Given the description of an element on the screen output the (x, y) to click on. 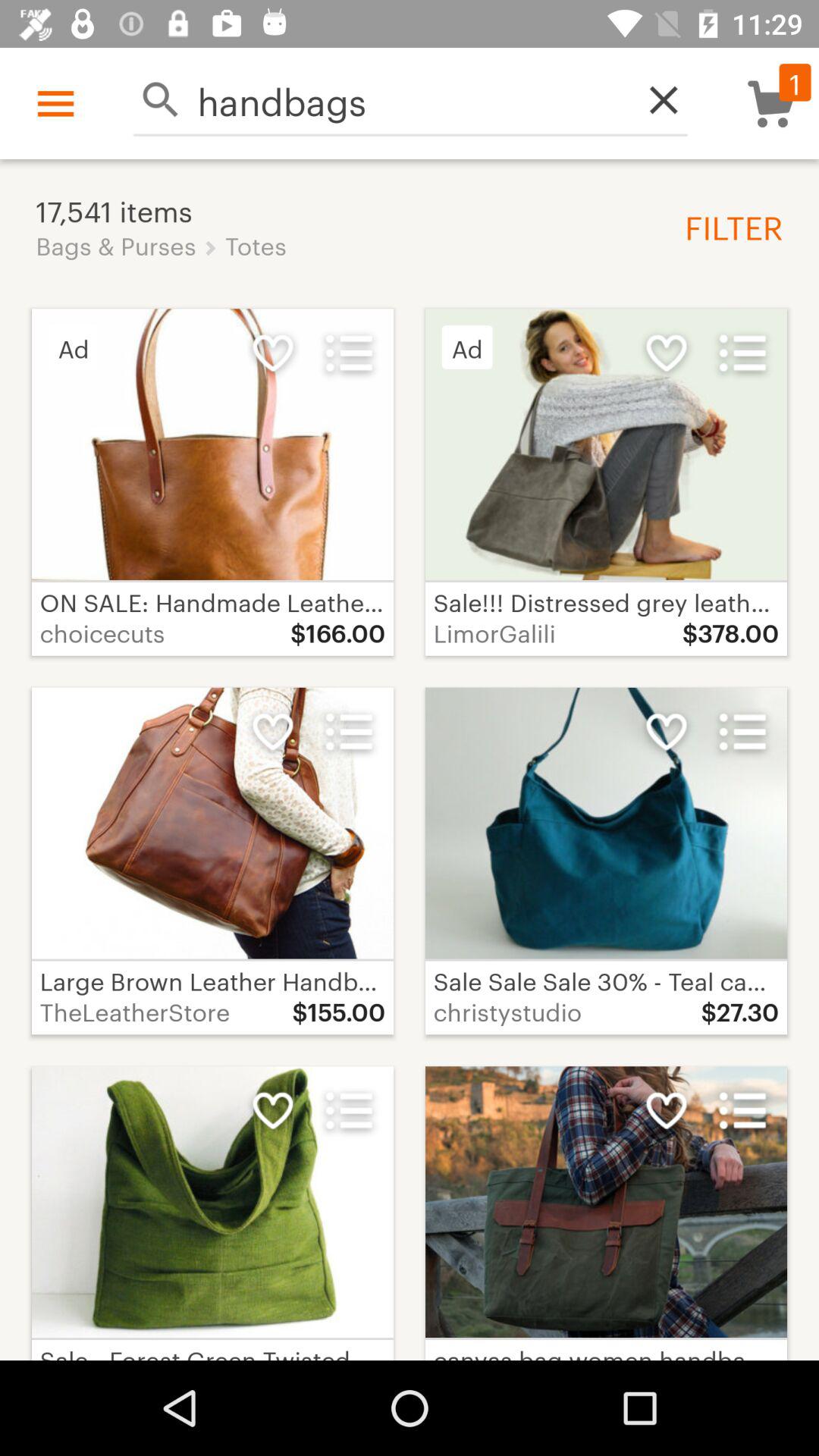
tap item above the filter (655, 99)
